Given the description of an element on the screen output the (x, y) to click on. 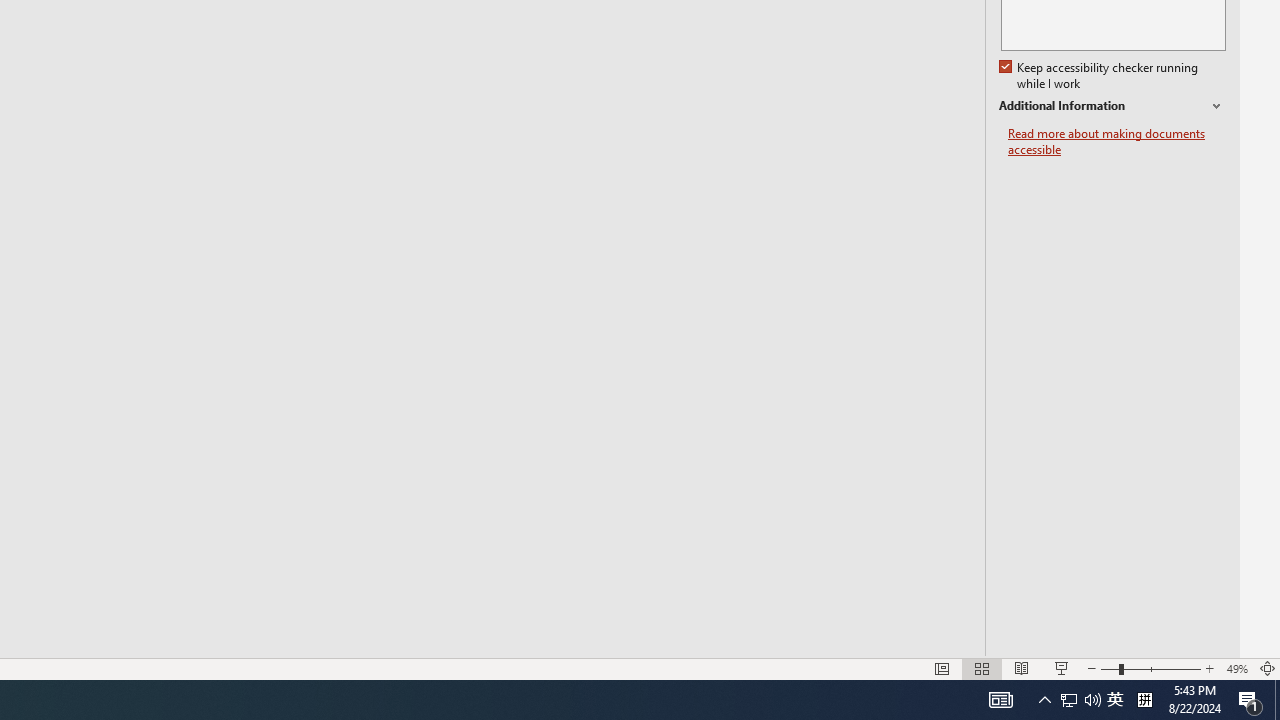
Zoom 49% (1236, 668)
Read more about making documents accessible (1117, 142)
